Given the description of an element on the screen output the (x, y) to click on. 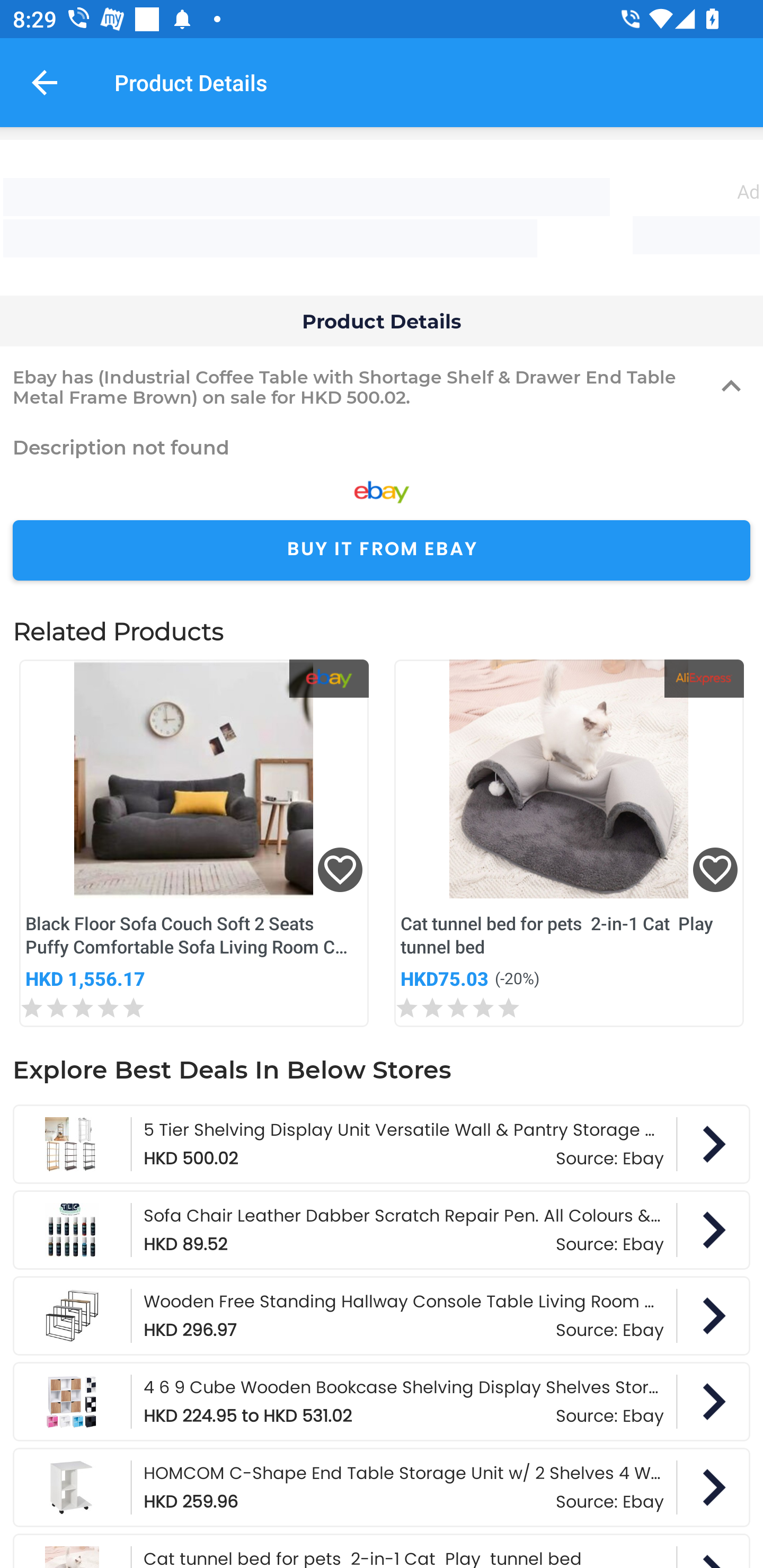
Navigate up (44, 82)
Description not found (381, 446)
BUY IT FROM EBAY (381, 550)
